Given the description of an element on the screen output the (x, y) to click on. 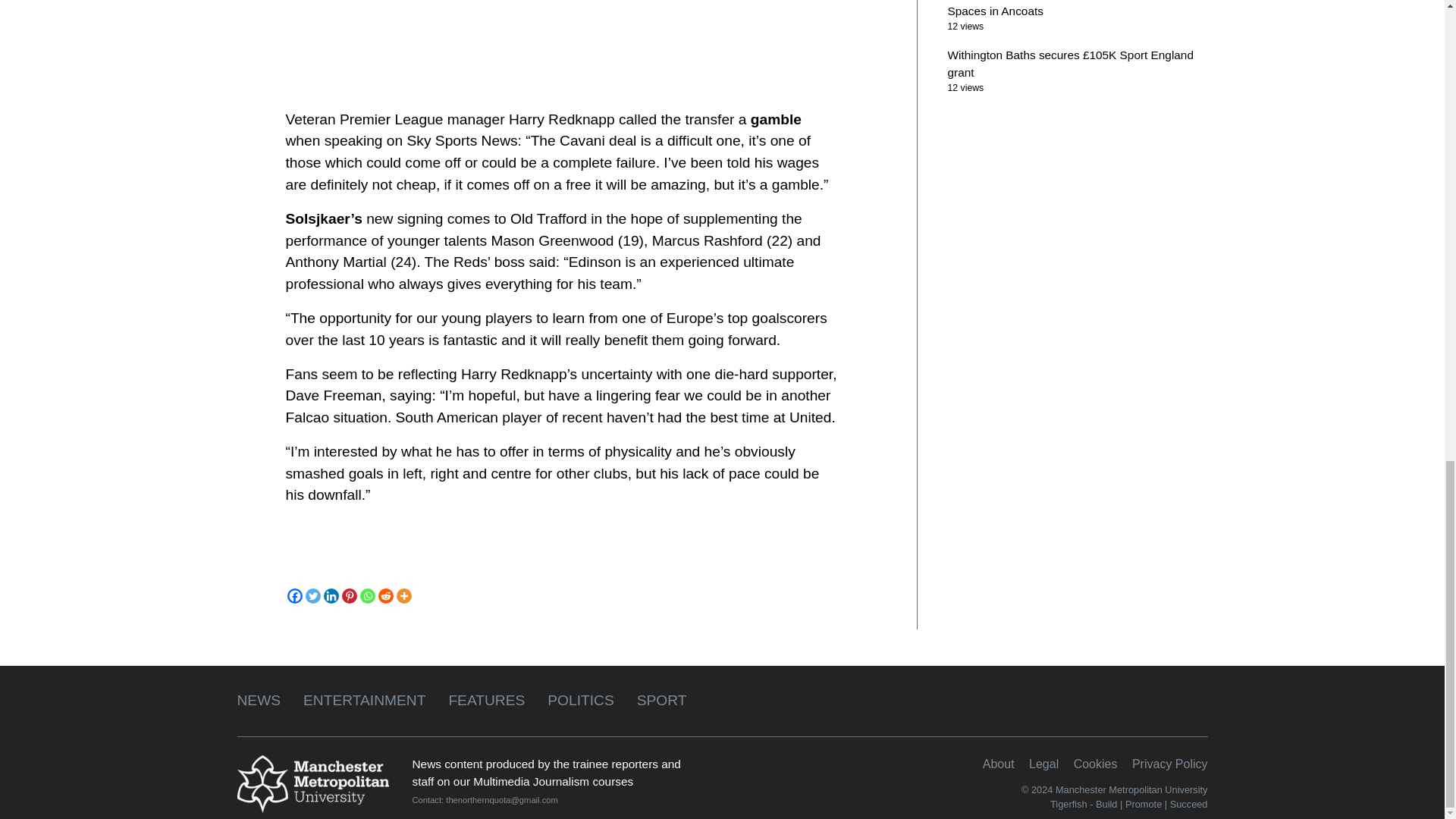
Reddit (385, 595)
More (403, 595)
Pinterest (348, 595)
Twitter (312, 595)
Linkedin (330, 595)
Facebook (293, 595)
Whatsapp (366, 595)
gamble (776, 119)
